Given the description of an element on the screen output the (x, y) to click on. 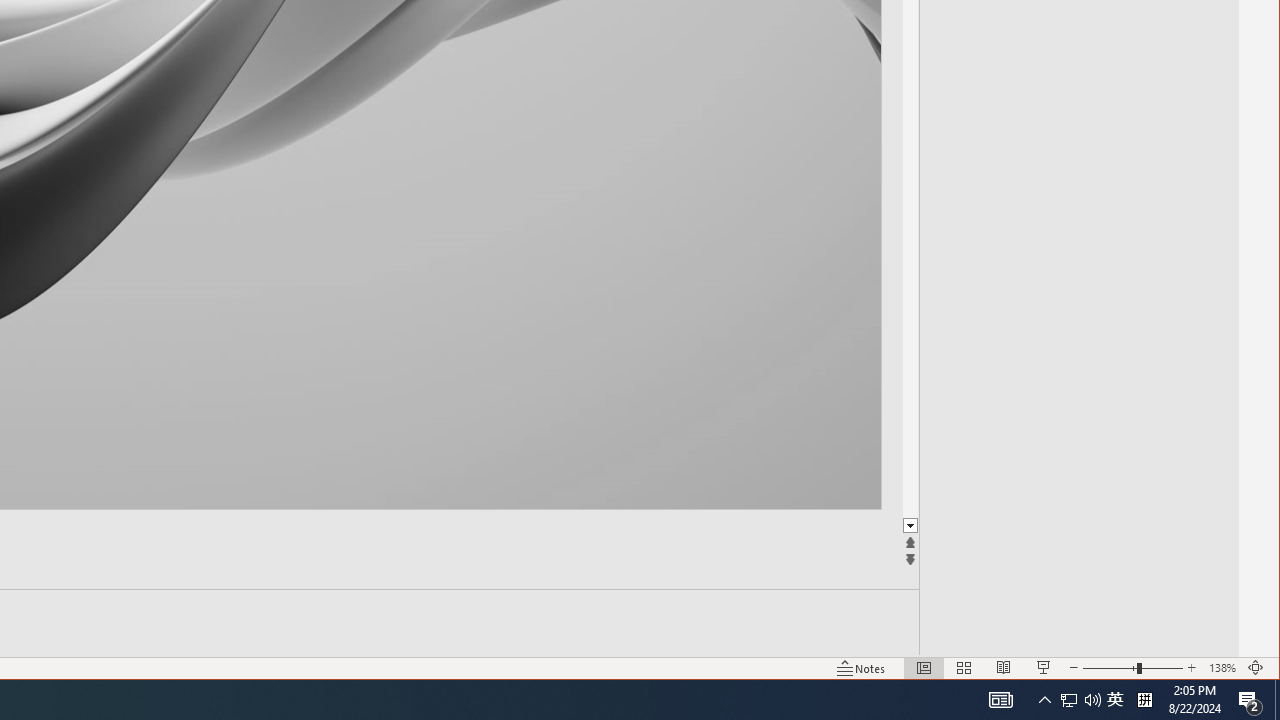
Zoom 138% (1222, 668)
